Given the description of an element on the screen output the (x, y) to click on. 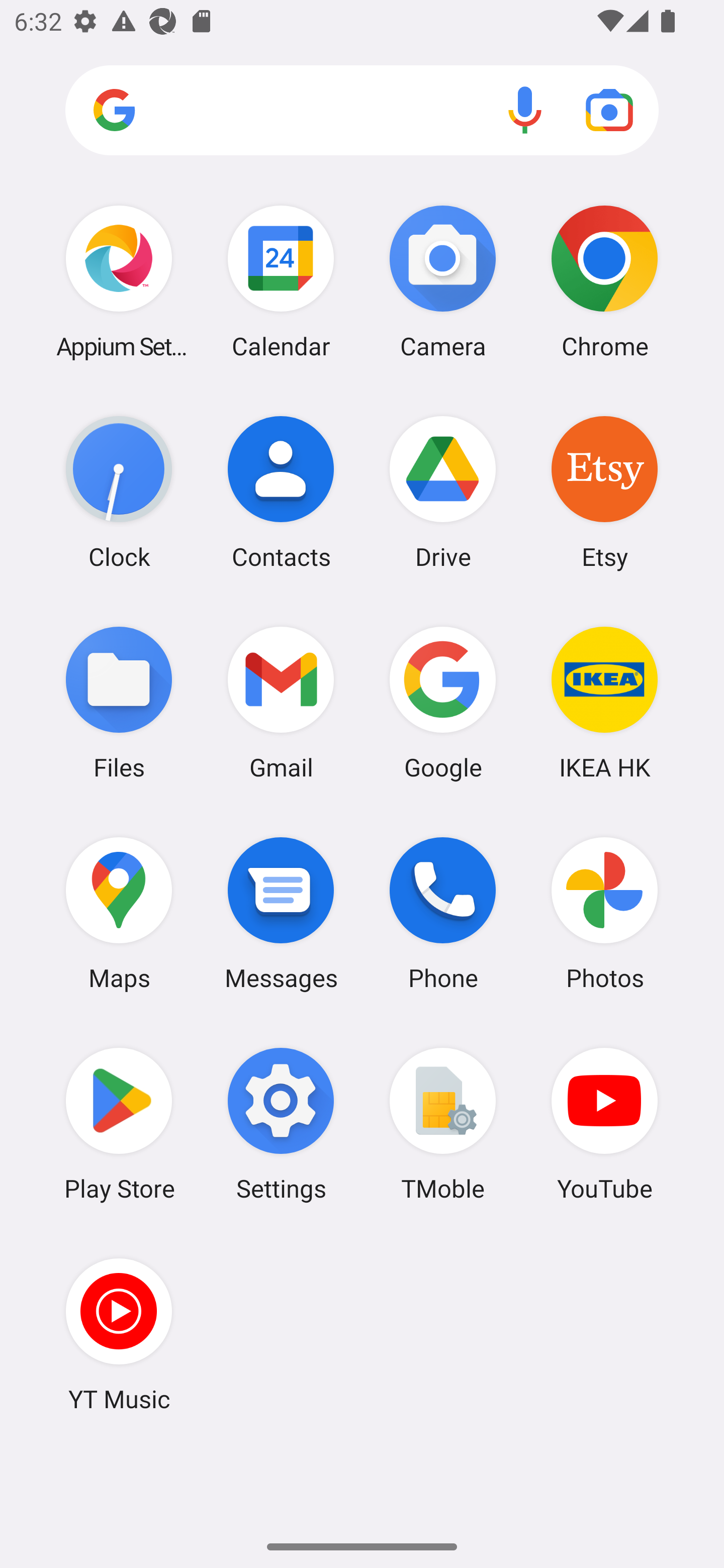
Search apps, web and more (361, 110)
Voice search (524, 109)
Google Lens (608, 109)
Appium Settings (118, 281)
Calendar (280, 281)
Camera (443, 281)
Chrome (604, 281)
Clock (118, 492)
Contacts (280, 492)
Drive (443, 492)
Etsy (604, 492)
Files (118, 702)
Gmail (280, 702)
Google (443, 702)
IKEA HK (604, 702)
Maps (118, 913)
Messages (280, 913)
Phone (443, 913)
Photos (604, 913)
Play Store (118, 1124)
Settings (280, 1124)
TMoble (443, 1124)
YouTube (604, 1124)
YT Music (118, 1334)
